Given the description of an element on the screen output the (x, y) to click on. 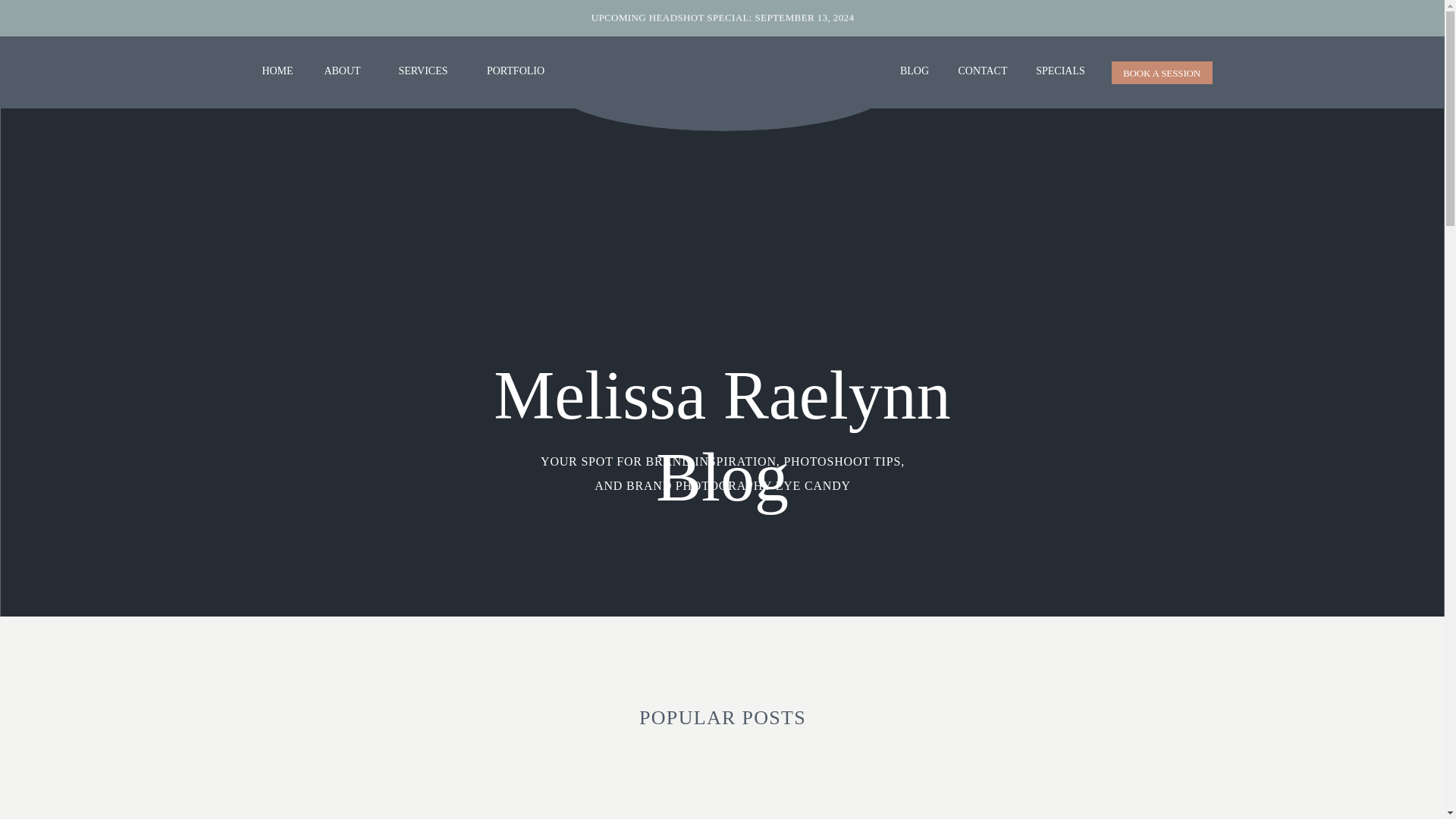
SERVICES (422, 72)
PORTFOLIO (515, 72)
CONTACT (981, 72)
ABOUT (342, 72)
HOME (277, 72)
BOOK A SESSION (1161, 72)
SPECIALS (1059, 70)
BLOG (913, 72)
